Given the description of an element on the screen output the (x, y) to click on. 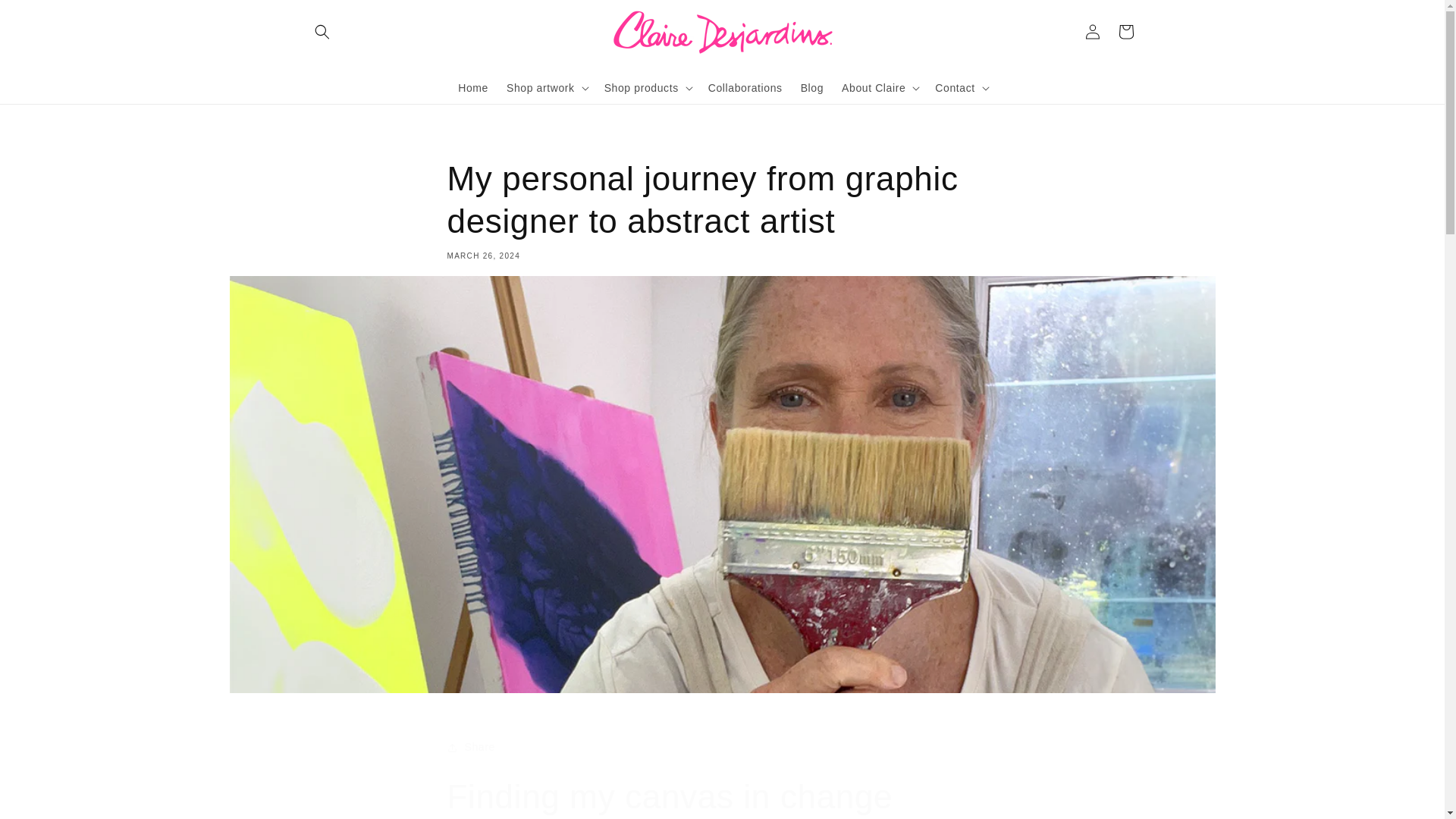
Skip to content (47, 18)
Share (721, 747)
Home (472, 87)
